Given the description of an element on the screen output the (x, y) to click on. 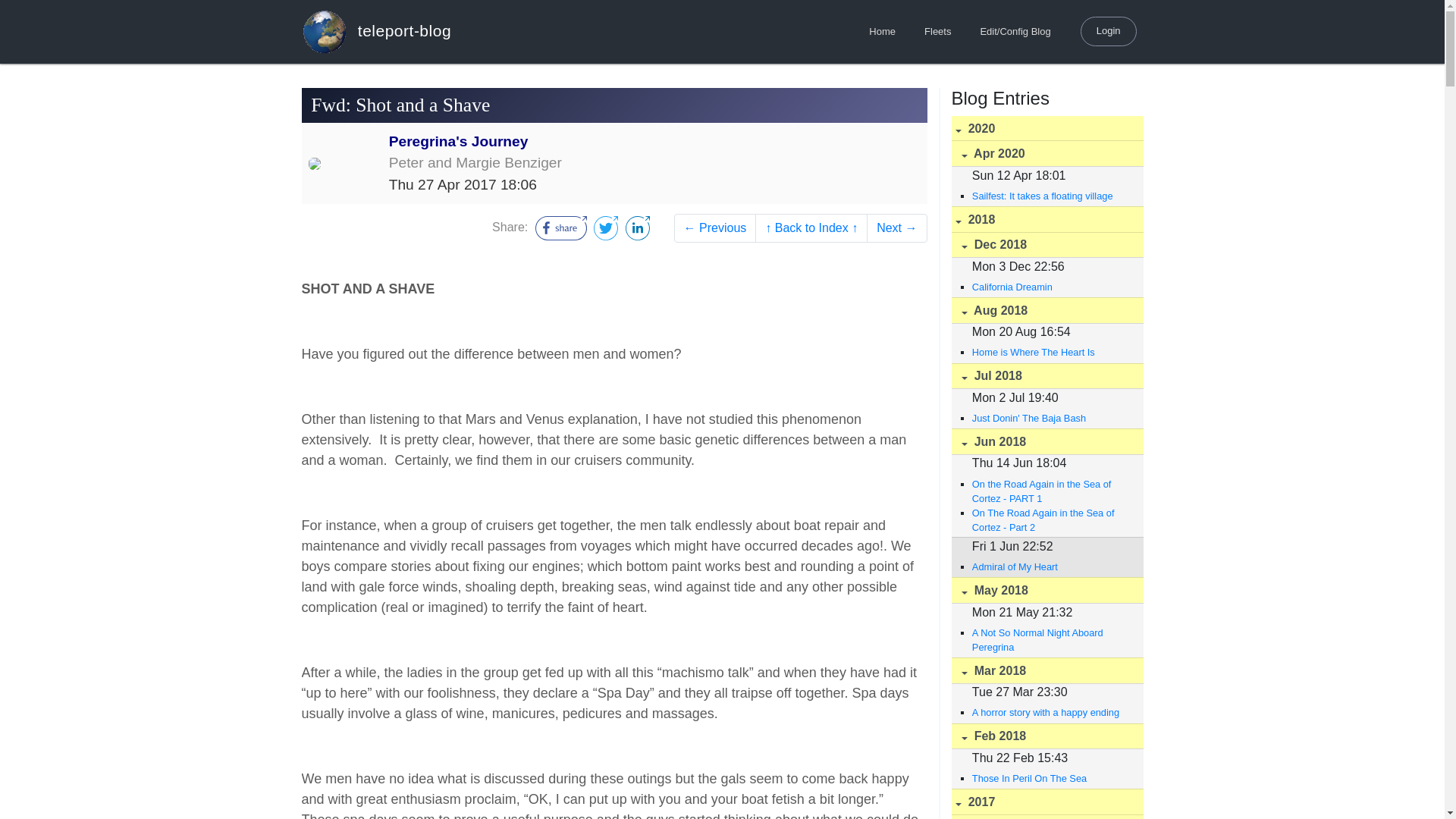
2018 (1046, 219)
Sailfest: It takes a floating village (1050, 196)
On The Road Again in the Sea of Cortez - Part 2 (1050, 520)
teleport-blog (376, 31)
California Dreamin (1050, 287)
2020 (1046, 128)
Dec 2018 (1046, 244)
A horror story with a happy ending (1050, 712)
A Not So Normal Night Aboard Peregrina (1050, 639)
Apr 2020 (1046, 153)
